Given the description of an element on the screen output the (x, y) to click on. 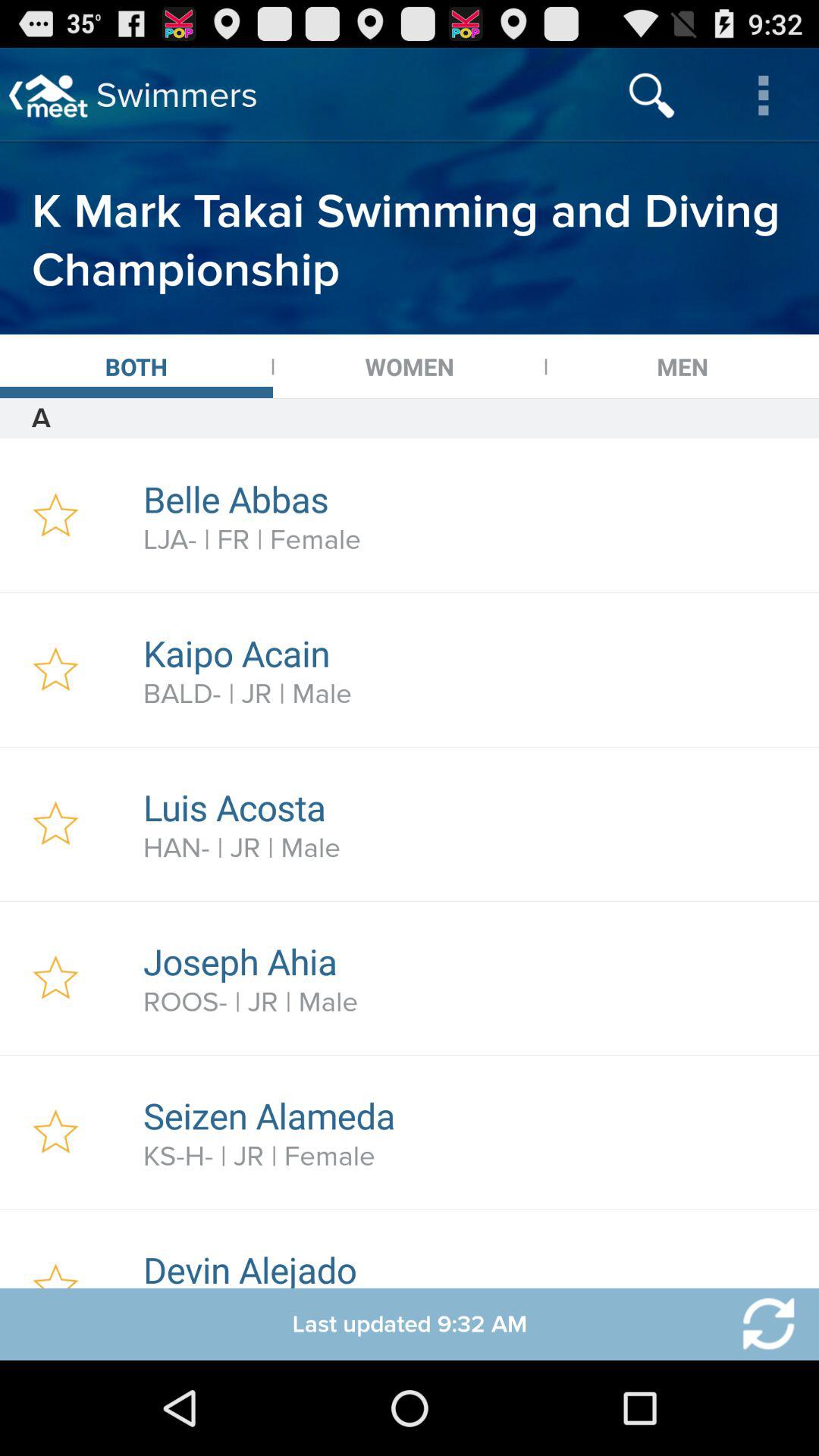
click the item to the left of the men (409, 366)
